Given the description of an element on the screen output the (x, y) to click on. 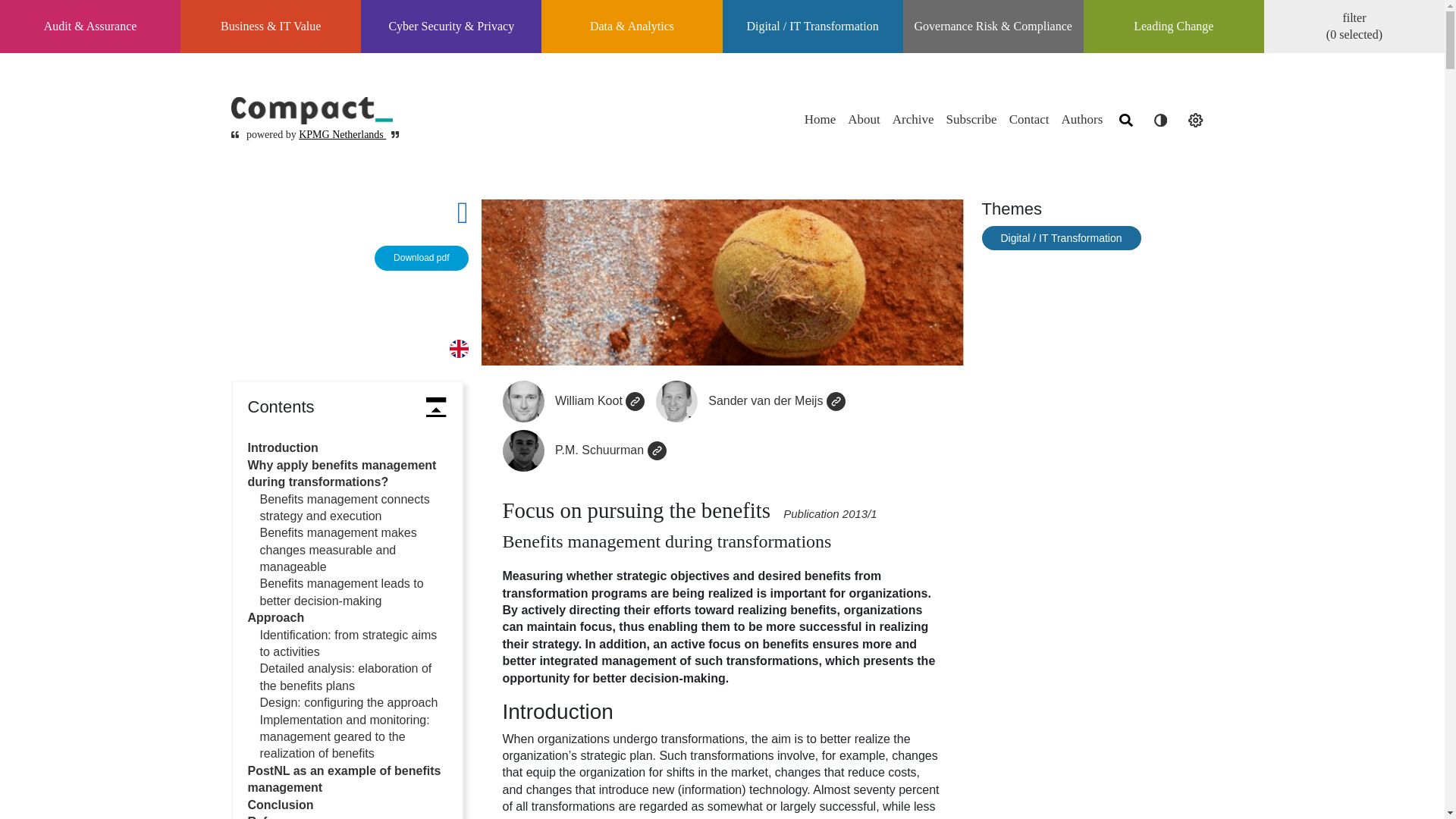
Introduction (282, 447)
Download pdf (420, 257)
Archive (913, 119)
Benefits management leads to better decision-making (341, 591)
Contact (1029, 119)
Home (820, 119)
Benefits management connects strategy and execution (344, 507)
KPMG Netherlands (341, 134)
Subscribe (971, 119)
Subscribe (971, 119)
About (863, 119)
About (863, 119)
Home (820, 119)
Archive (913, 119)
Compact (314, 110)
